Given the description of an element on the screen output the (x, y) to click on. 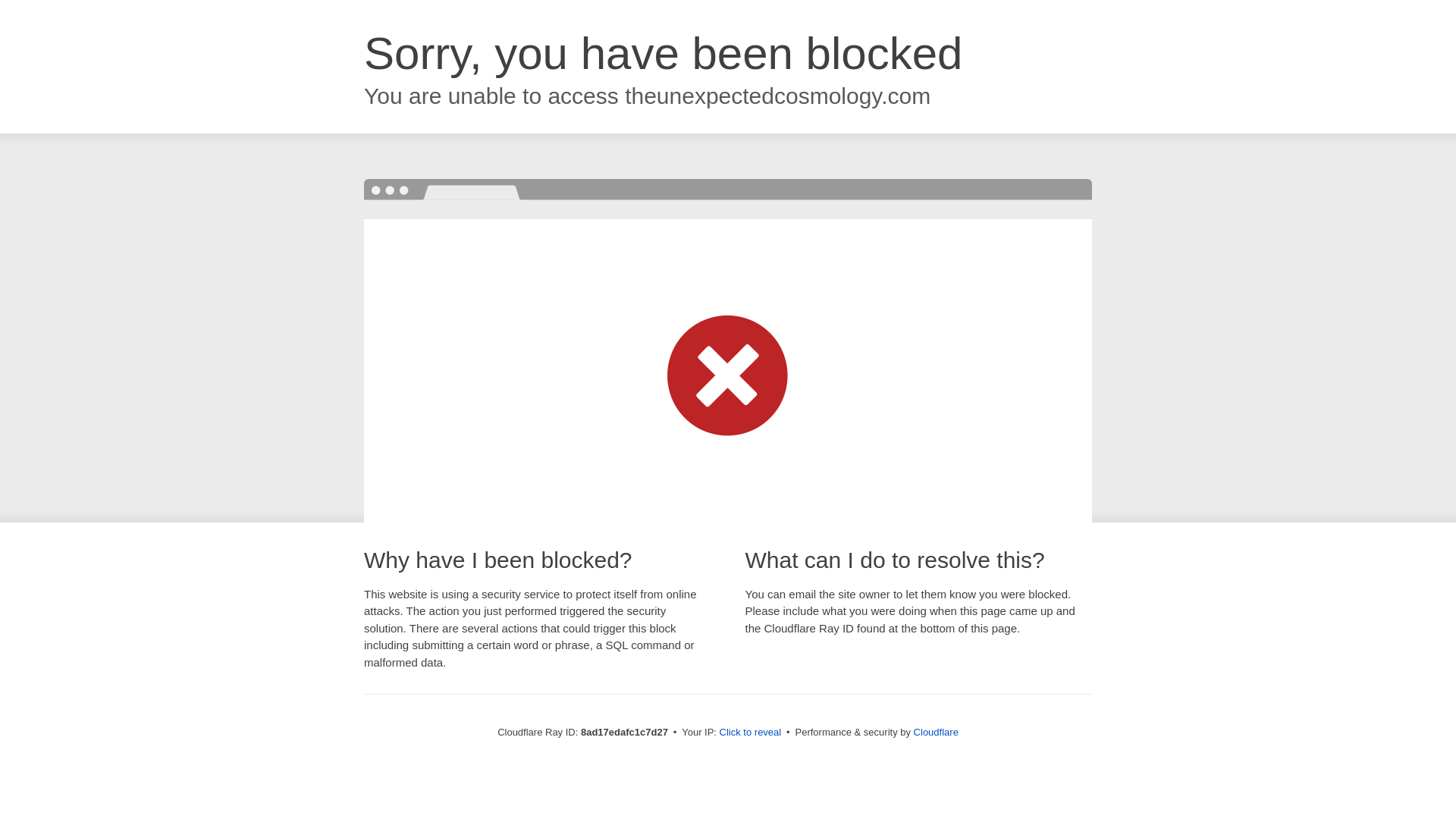
Click to reveal (750, 732)
Cloudflare (936, 731)
